Given the description of an element on the screen output the (x, y) to click on. 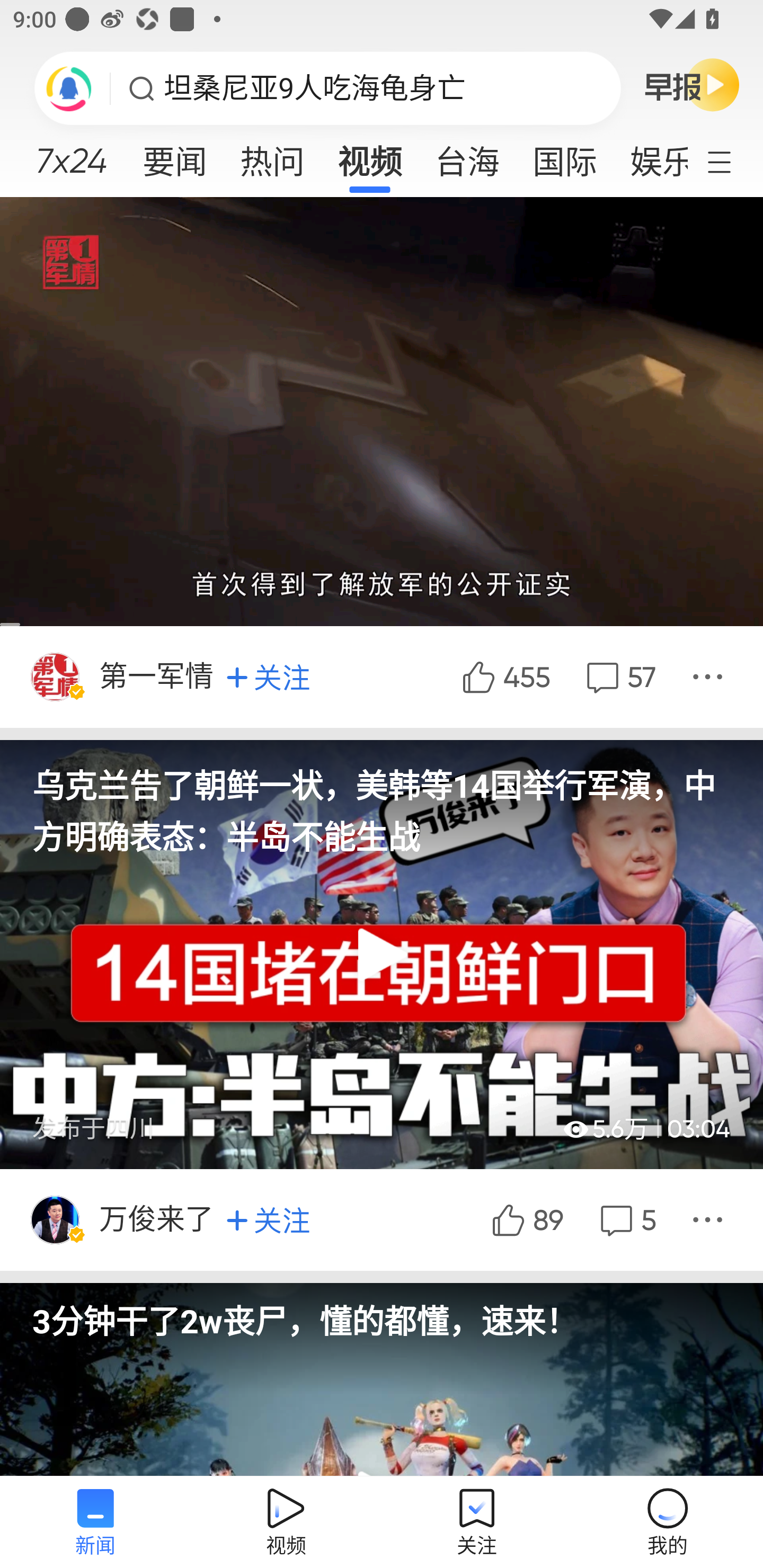
早晚报 (691, 84)
刷新 (68, 88)
坦桑尼亚9人吃海龟身亡 (314, 88)
7x24 (70, 154)
要闻 (174, 155)
热问 (272, 155)
视频 (369, 155)
台海 (466, 155)
国际 (564, 155)
娱乐 (650, 155)
 定制频道 (731, 160)
455赞 (504, 676)
评论  57 (619, 676)
分享  (709, 676)
第一军情 (157, 676)
关注 (268, 677)
乌克兰告了朝鲜一状，美韩等14国举行军演，中方明确表态：半岛不能生战 (381, 799)
89赞 (525, 1219)
评论  5 (625, 1219)
分享  (709, 1219)
万俊来了 (157, 1219)
关注 (268, 1219)
3分钟干了2w丧尸，懂的都懂，速来！ (381, 1311)
